Given the description of an element on the screen output the (x, y) to click on. 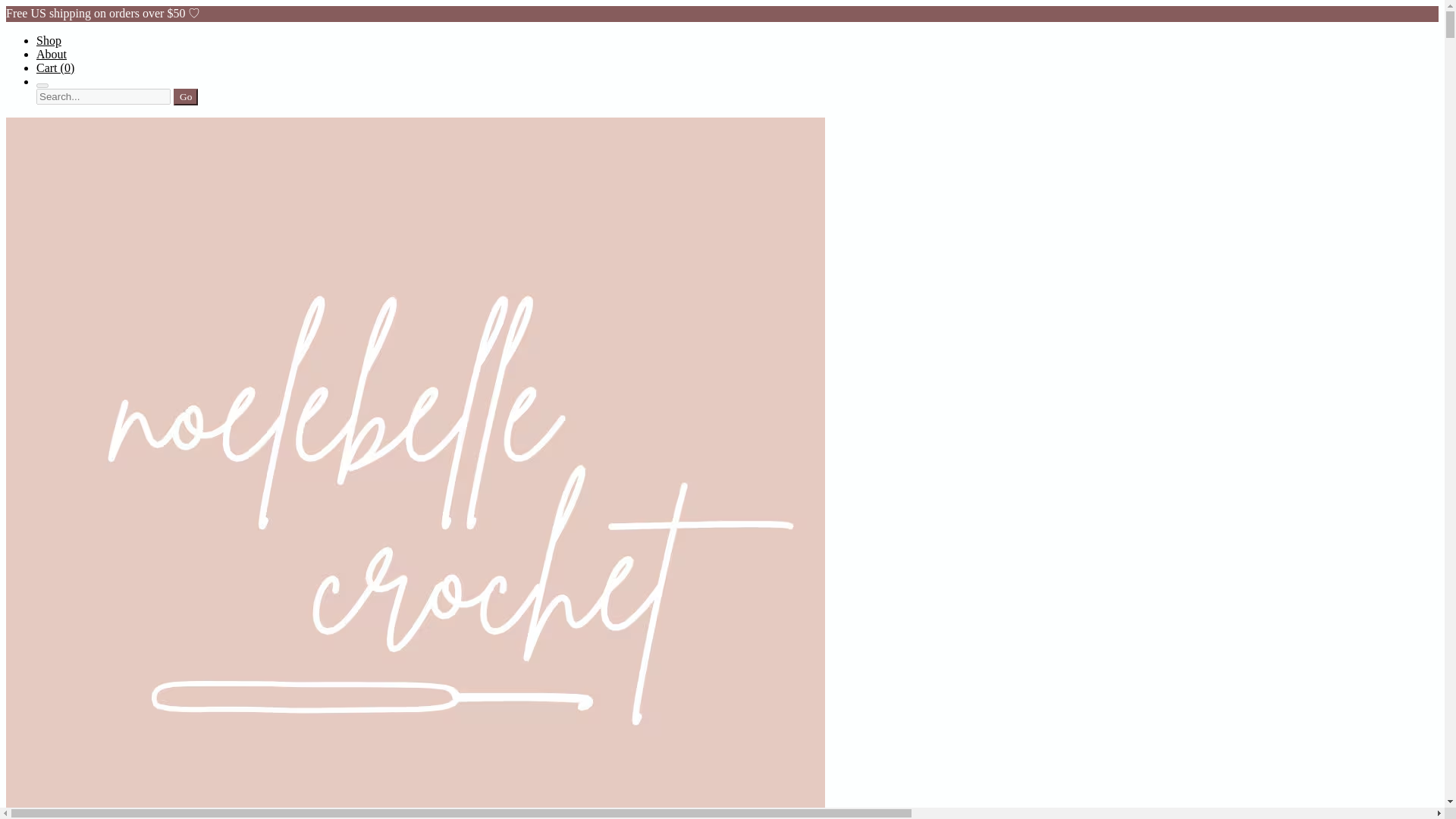
Go (185, 96)
Go (185, 96)
Shop (48, 40)
About (51, 53)
